Given the description of an element on the screen output the (x, y) to click on. 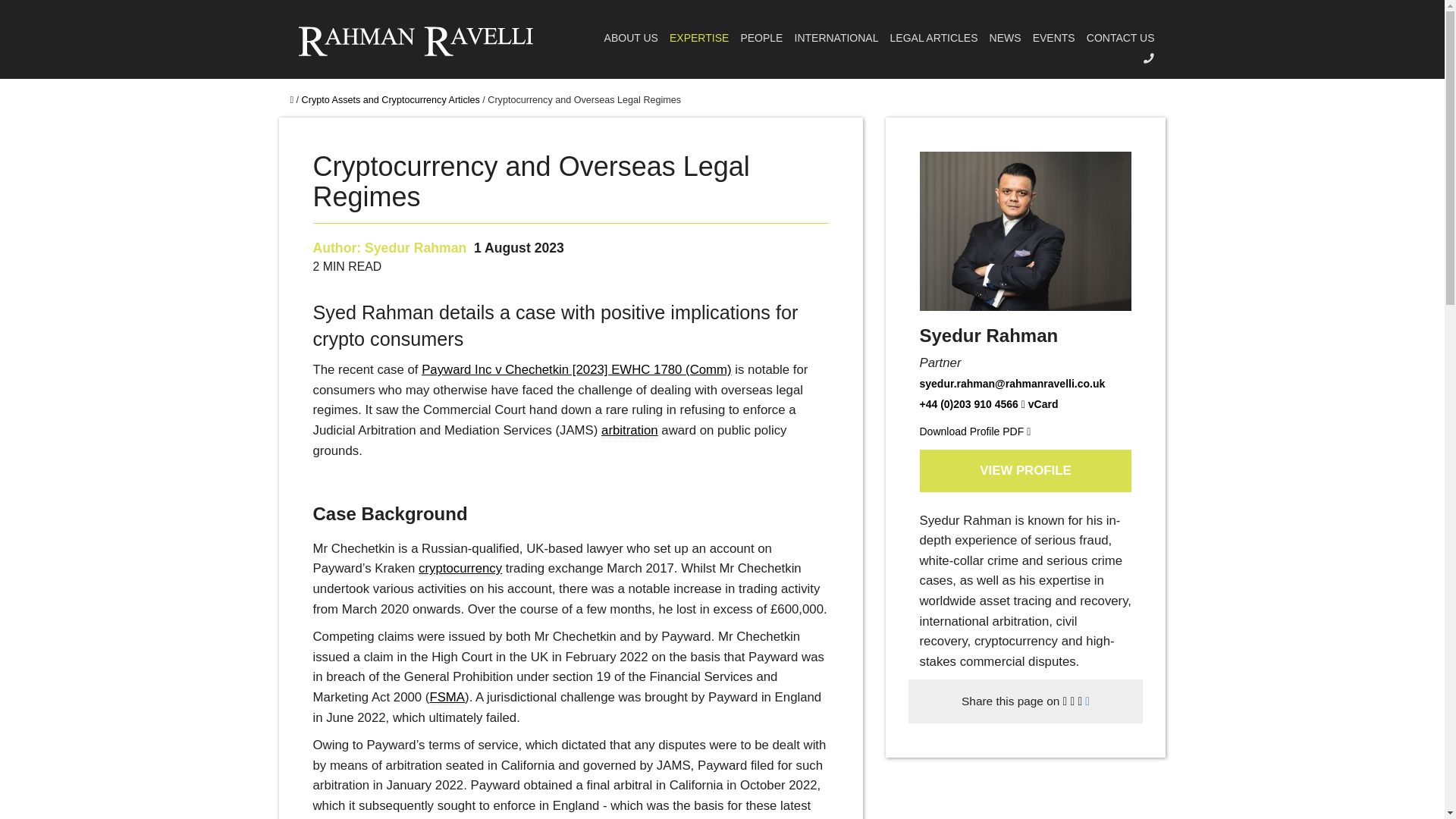
Read more about Cryptoassets and investigations (460, 568)
View Syedur Rahman's Profile (415, 247)
Learn more about International arbitration  (629, 430)
Financial Services and Markets Act (446, 697)
